Given the description of an element on the screen output the (x, y) to click on. 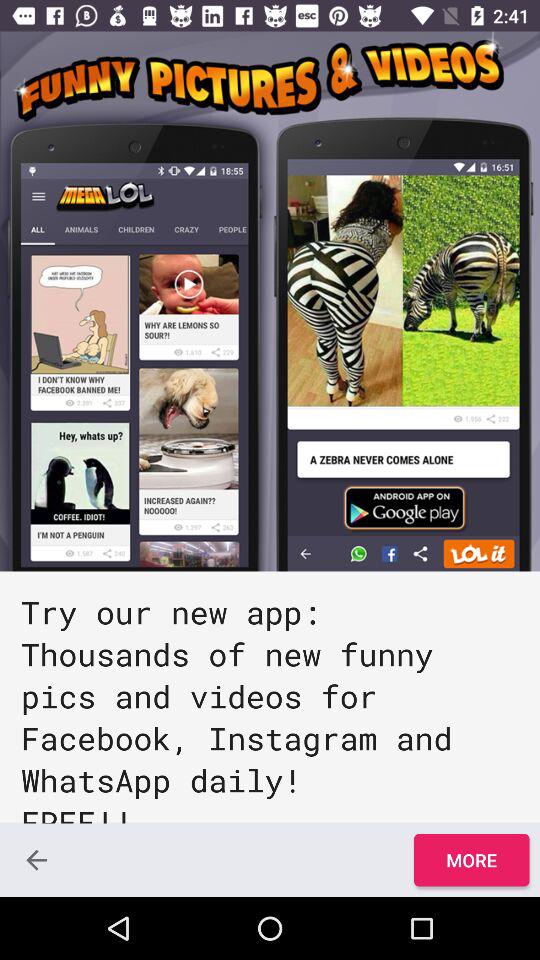
select item below the try our new (36, 859)
